Given the description of an element on the screen output the (x, y) to click on. 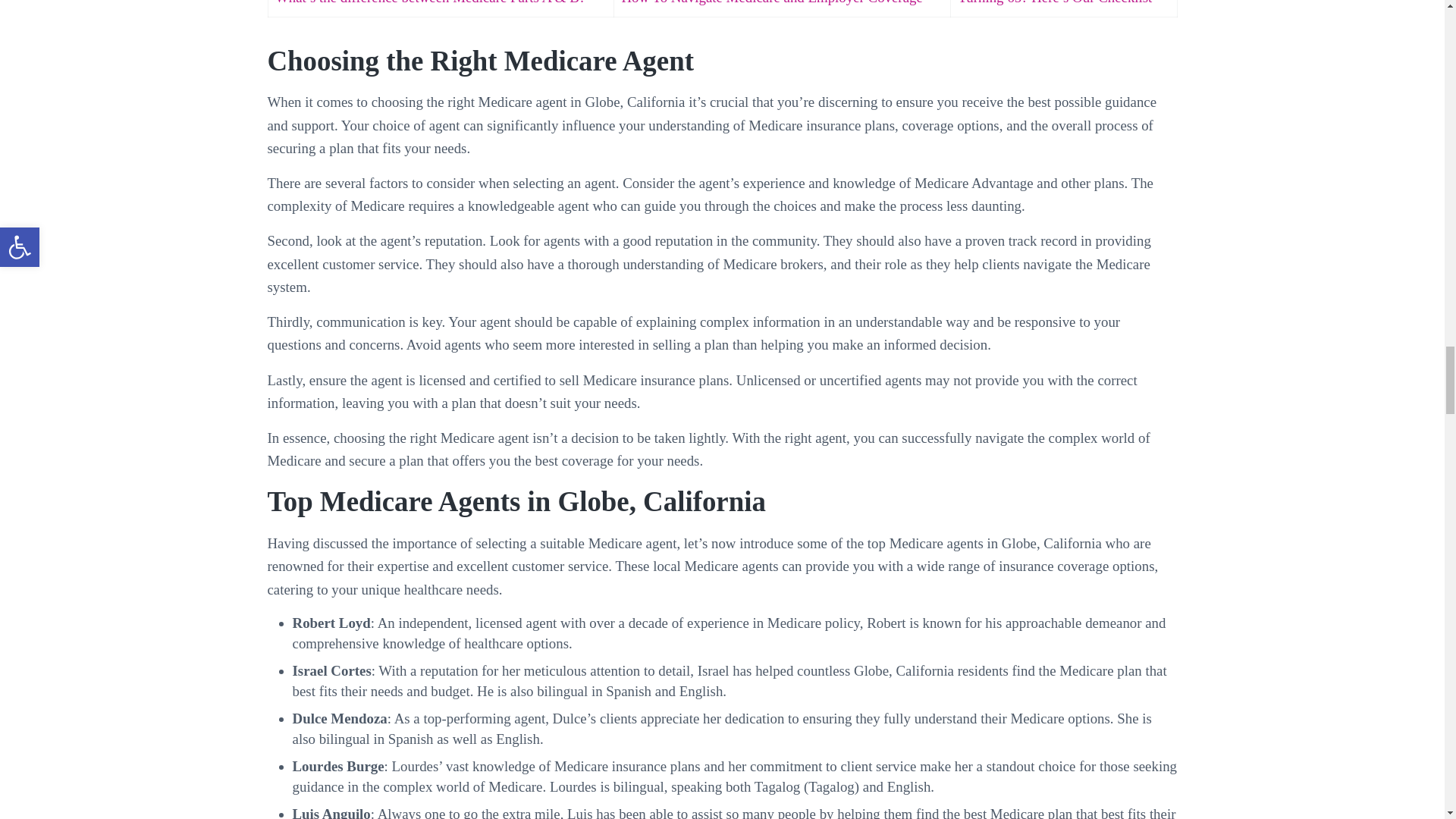
How To Navigate Medicare and Employer Coverage (771, 2)
